Given the description of an element on the screen output the (x, y) to click on. 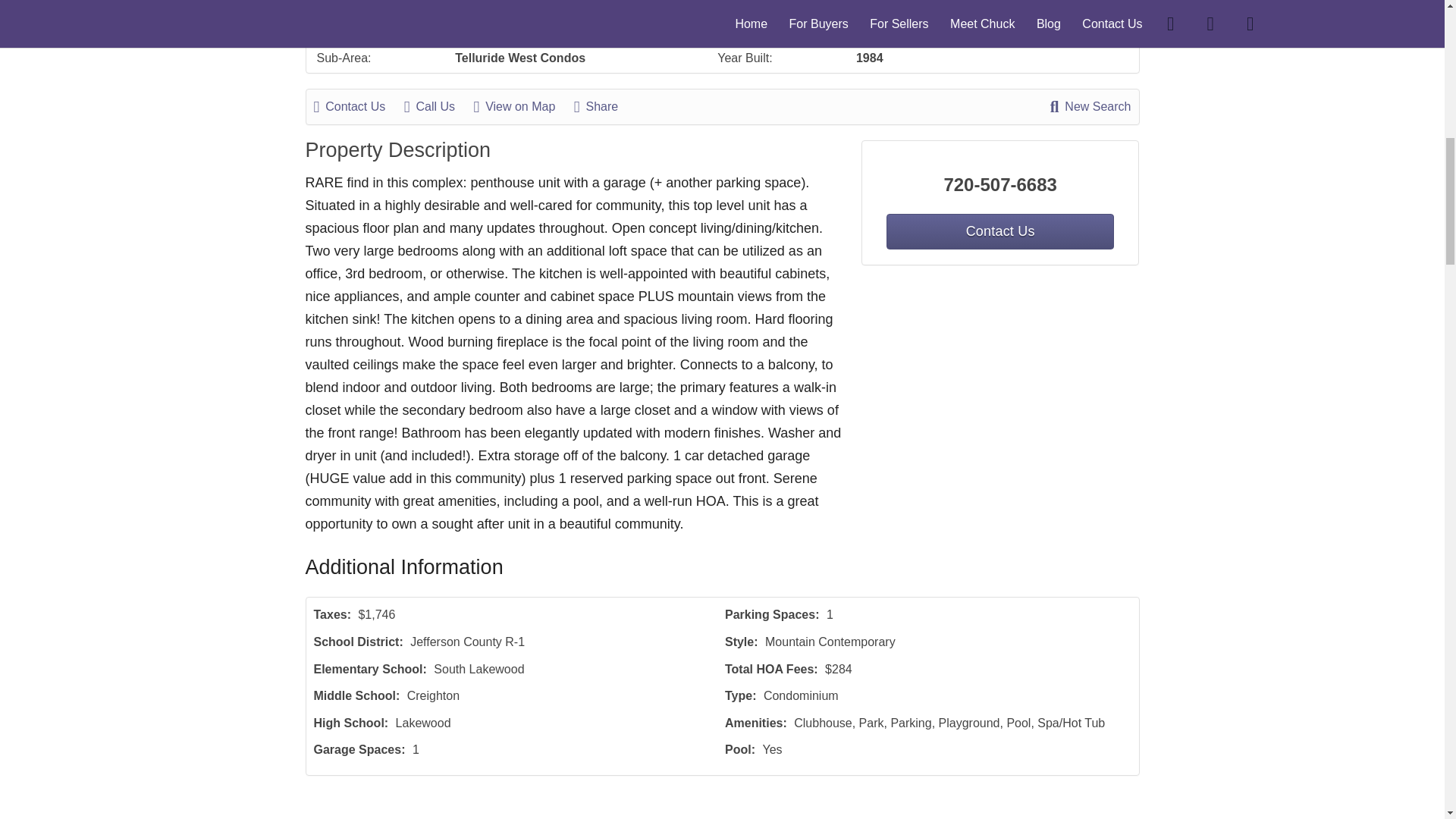
Share (603, 106)
New Search (1090, 106)
Contact Us (357, 106)
Contact Us (999, 231)
720-507-6683 (1000, 185)
Call Us (437, 106)
View on Map (521, 106)
